Given the description of an element on the screen output the (x, y) to click on. 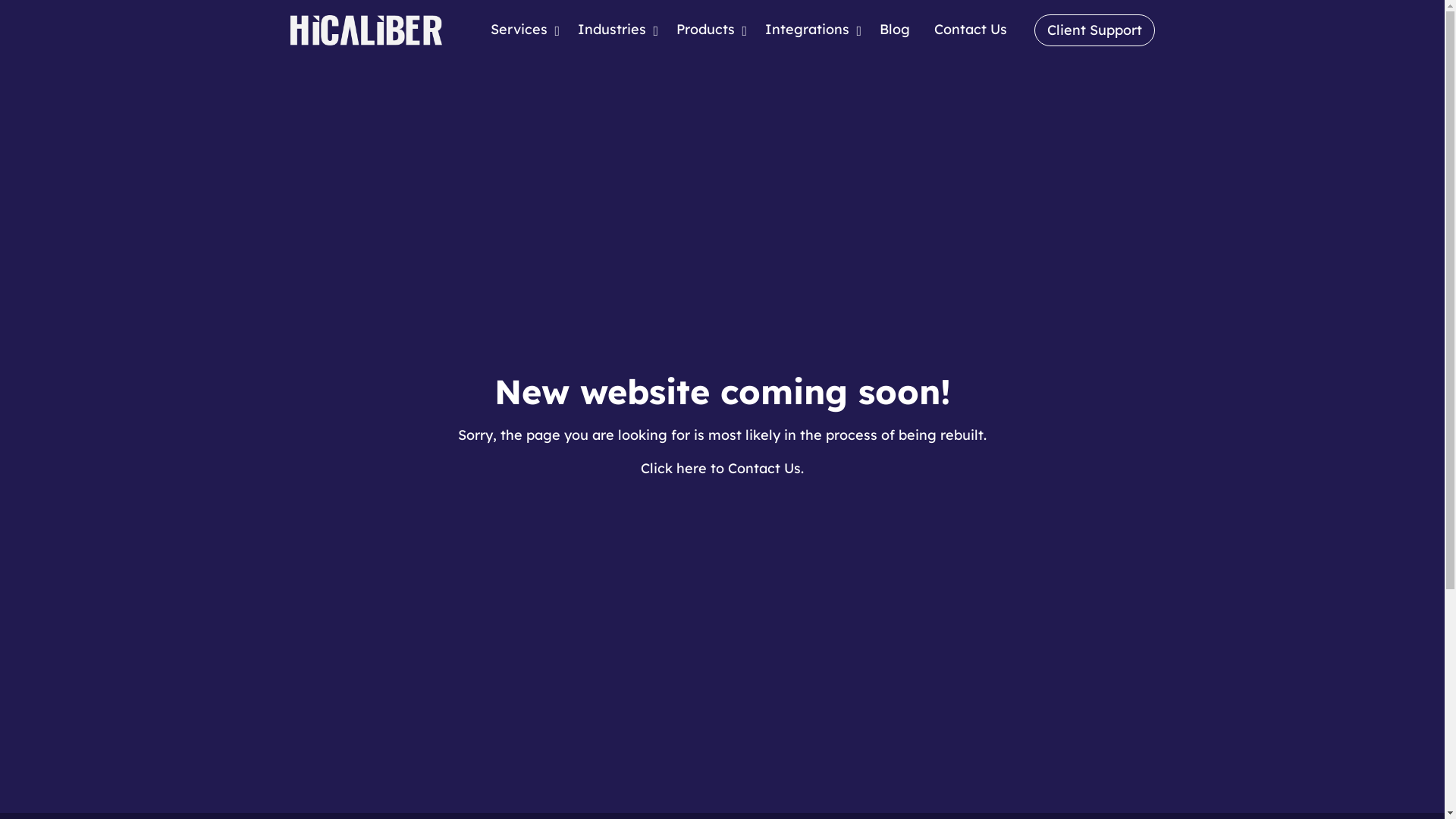
Contact Us Element type: text (970, 29)
Products Element type: text (708, 29)
Industries Element type: text (614, 29)
here  Element type: text (693, 467)
Client Support Element type: text (1094, 30)
Services Element type: text (520, 29)
Integrations Element type: text (809, 29)
Blog Element type: text (894, 29)
